Given the description of an element on the screen output the (x, y) to click on. 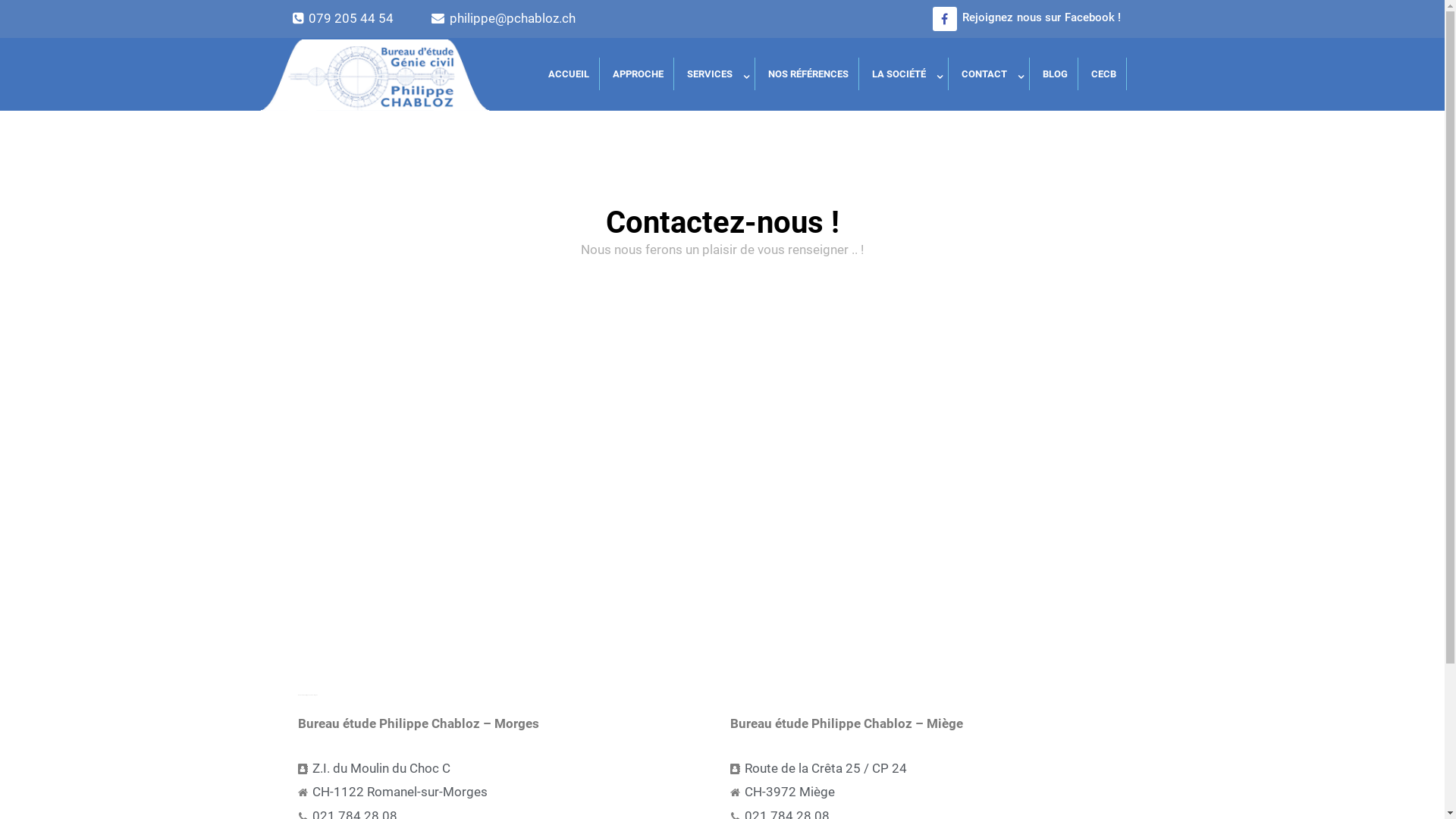
CECB Element type: text (1103, 73)
SERVICES Element type: text (716, 73)
APPROCHE Element type: text (638, 73)
philippe@pchabloz.ch Element type: text (528, 18)
CONTACT Element type: text (990, 73)
BLOG Element type: text (1055, 73)
079 205 44 54 Element type: text (353, 18)
ACCUEIL Element type: text (568, 73)
